Given the description of an element on the screen output the (x, y) to click on. 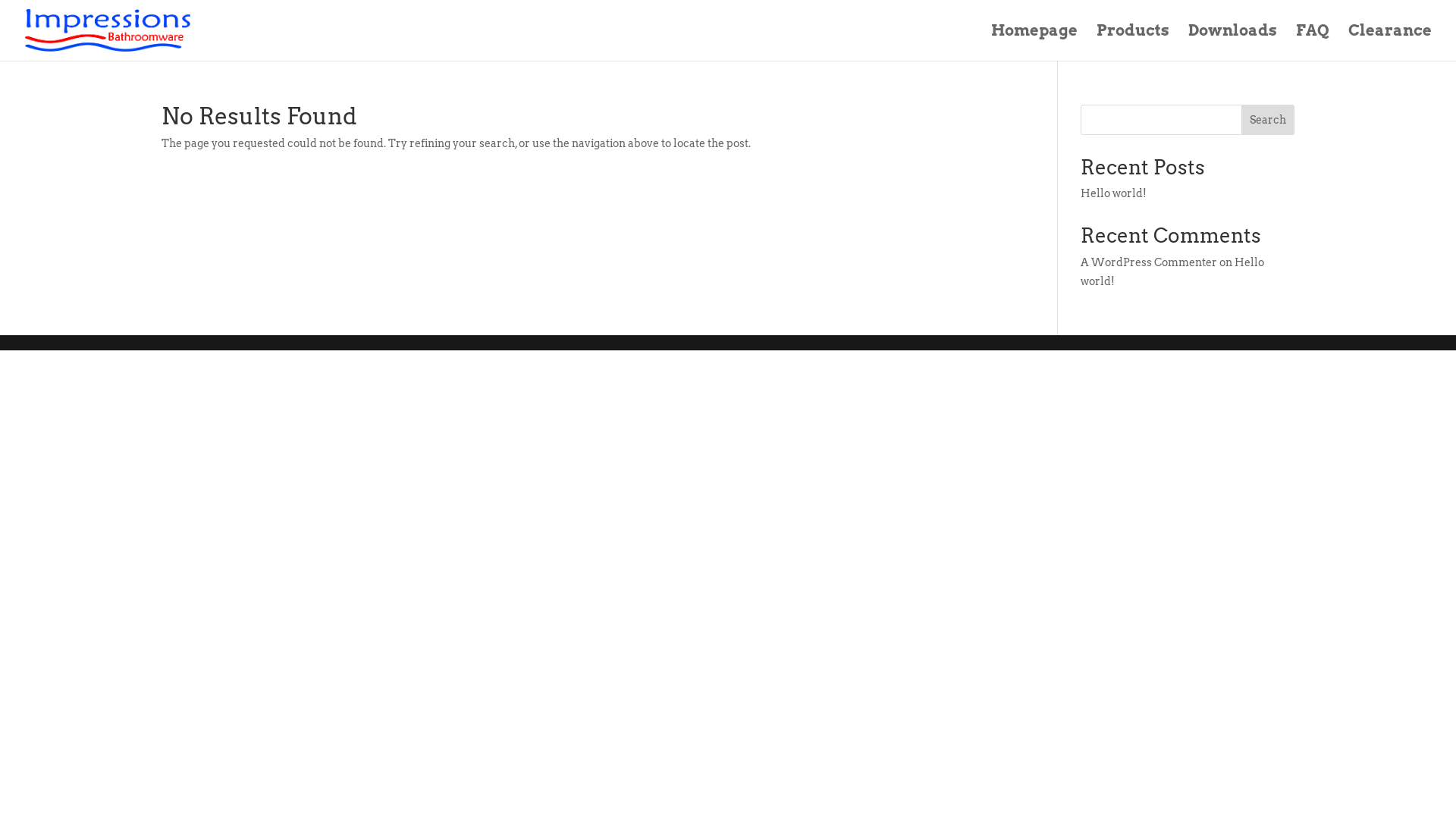
Clearance Element type: text (1389, 42)
Downloads Element type: text (1232, 42)
A WordPress Commenter Element type: text (1148, 262)
Hello world! Element type: text (1172, 271)
Hello world! Element type: text (1113, 193)
Search Element type: text (1267, 119)
Products Element type: text (1132, 42)
Homepage Element type: text (1034, 42)
FAQ Element type: text (1312, 42)
